Given the description of an element on the screen output the (x, y) to click on. 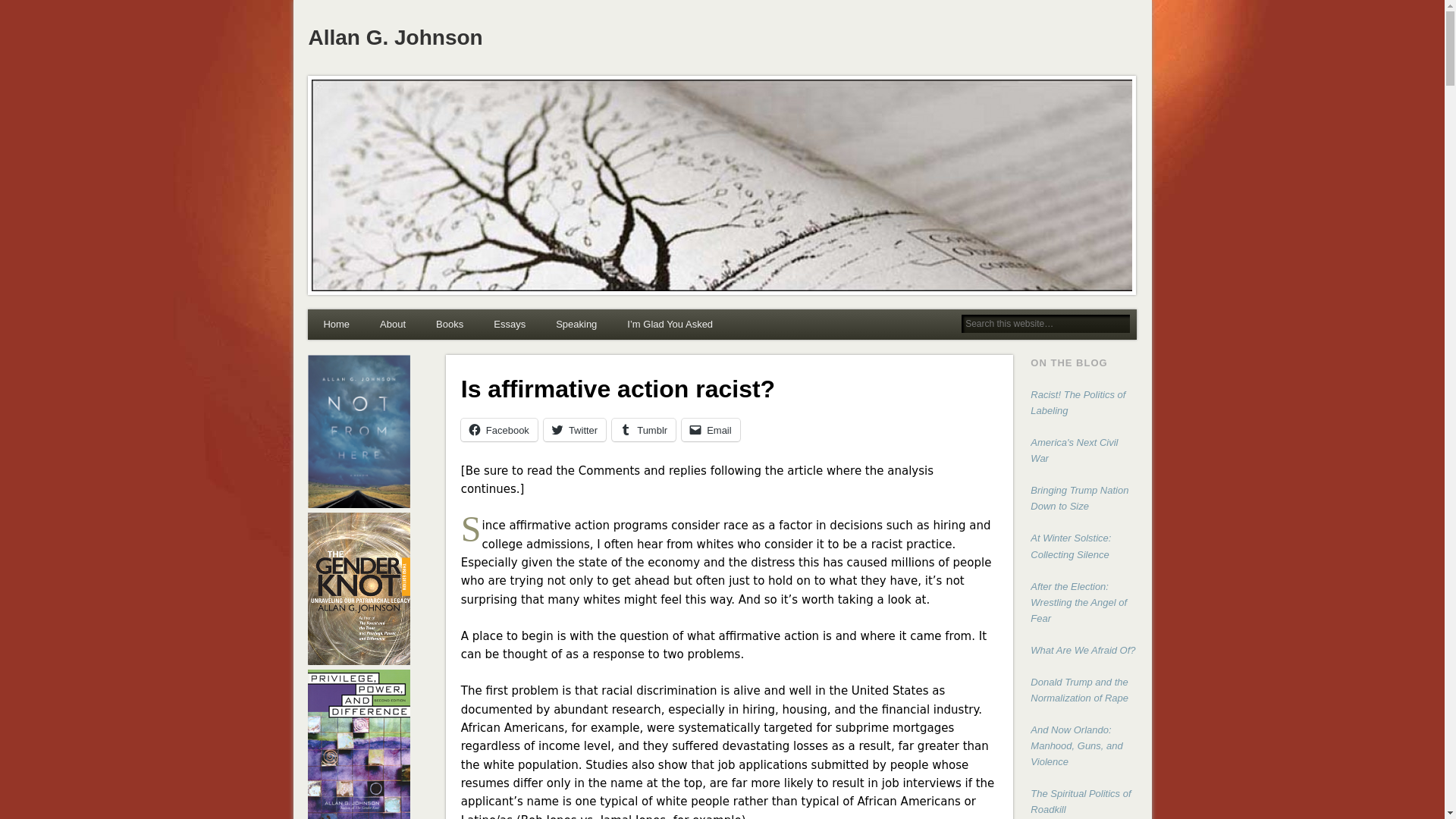
Allan G. Johnson (394, 37)
Home (336, 324)
Speaking (575, 324)
Click to share on Twitter (574, 429)
Click to share on Tumblr (643, 429)
Click to share on Facebook (499, 429)
About (392, 324)
Click to email a link to a friend (710, 429)
Books (449, 324)
Essays (509, 324)
